Given the description of an element on the screen output the (x, y) to click on. 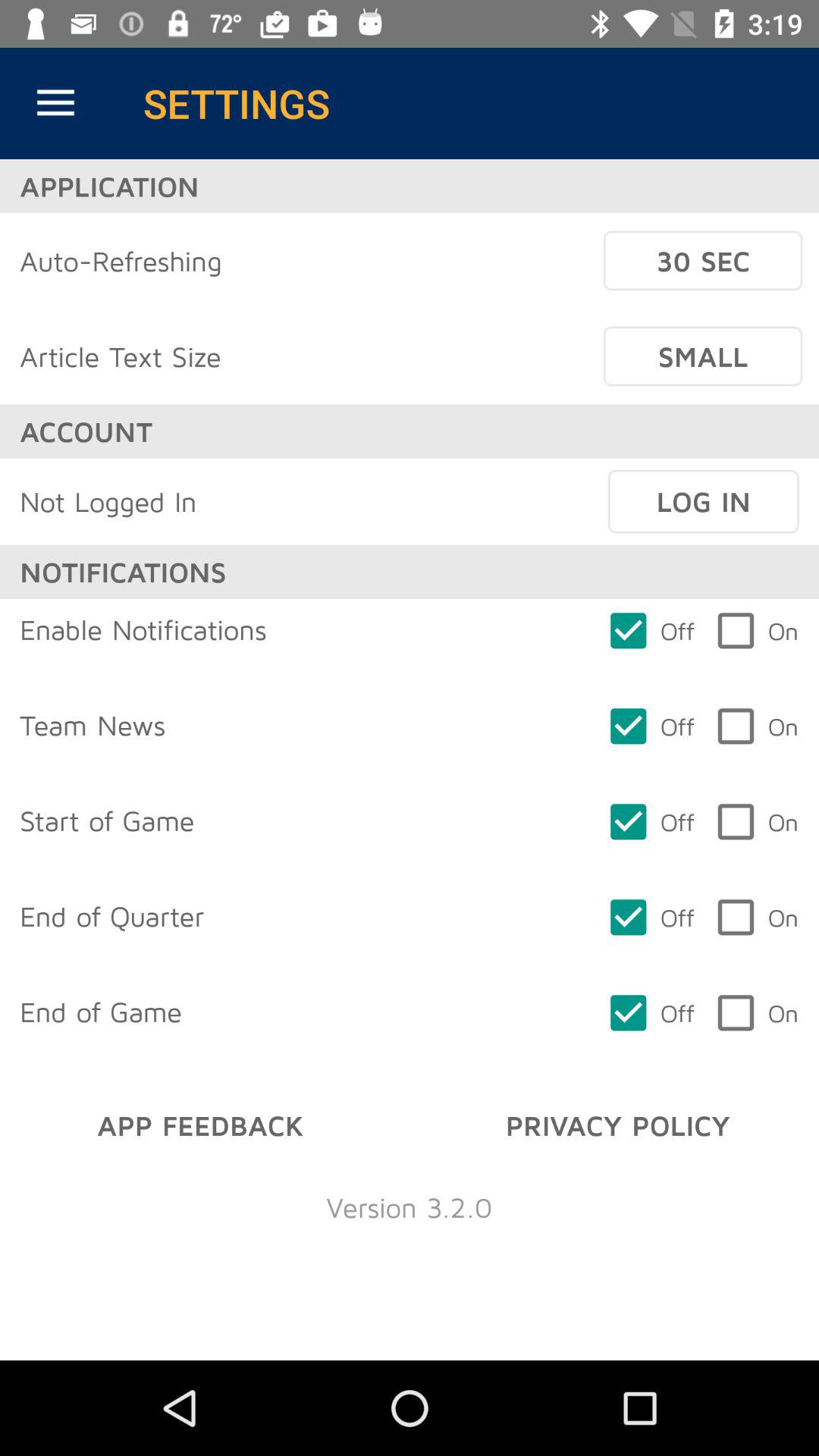
scroll until the version 3 2 icon (409, 1206)
